Given the description of an element on the screen output the (x, y) to click on. 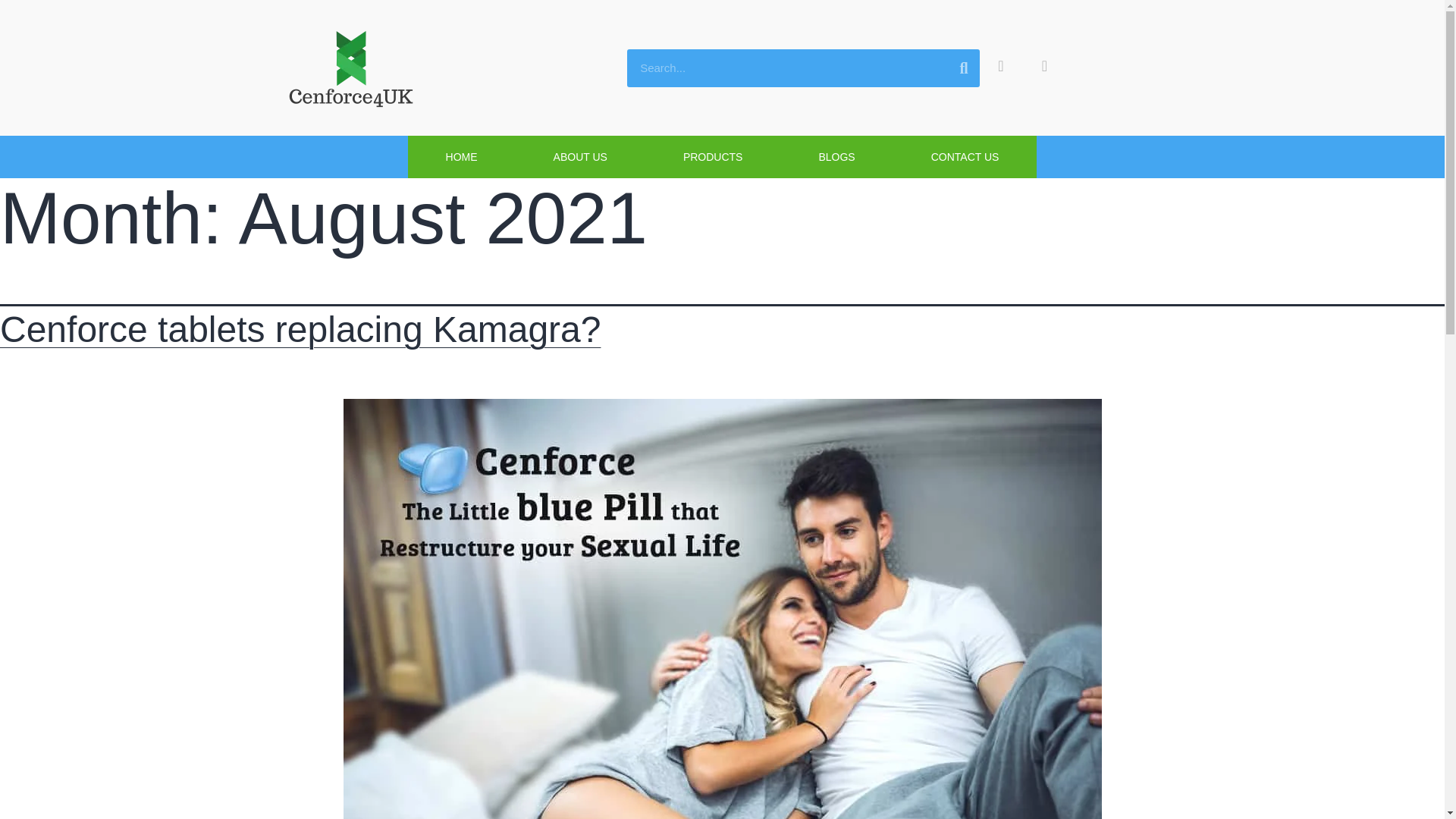
European Union (1119, 65)
Cenforce tablets replacing Kamagra? (299, 329)
ABOUT US (580, 156)
CONTACT US (964, 156)
PRODUCTS (712, 156)
BLOGS (836, 156)
HOME (461, 156)
Search (802, 67)
